Given the description of an element on the screen output the (x, y) to click on. 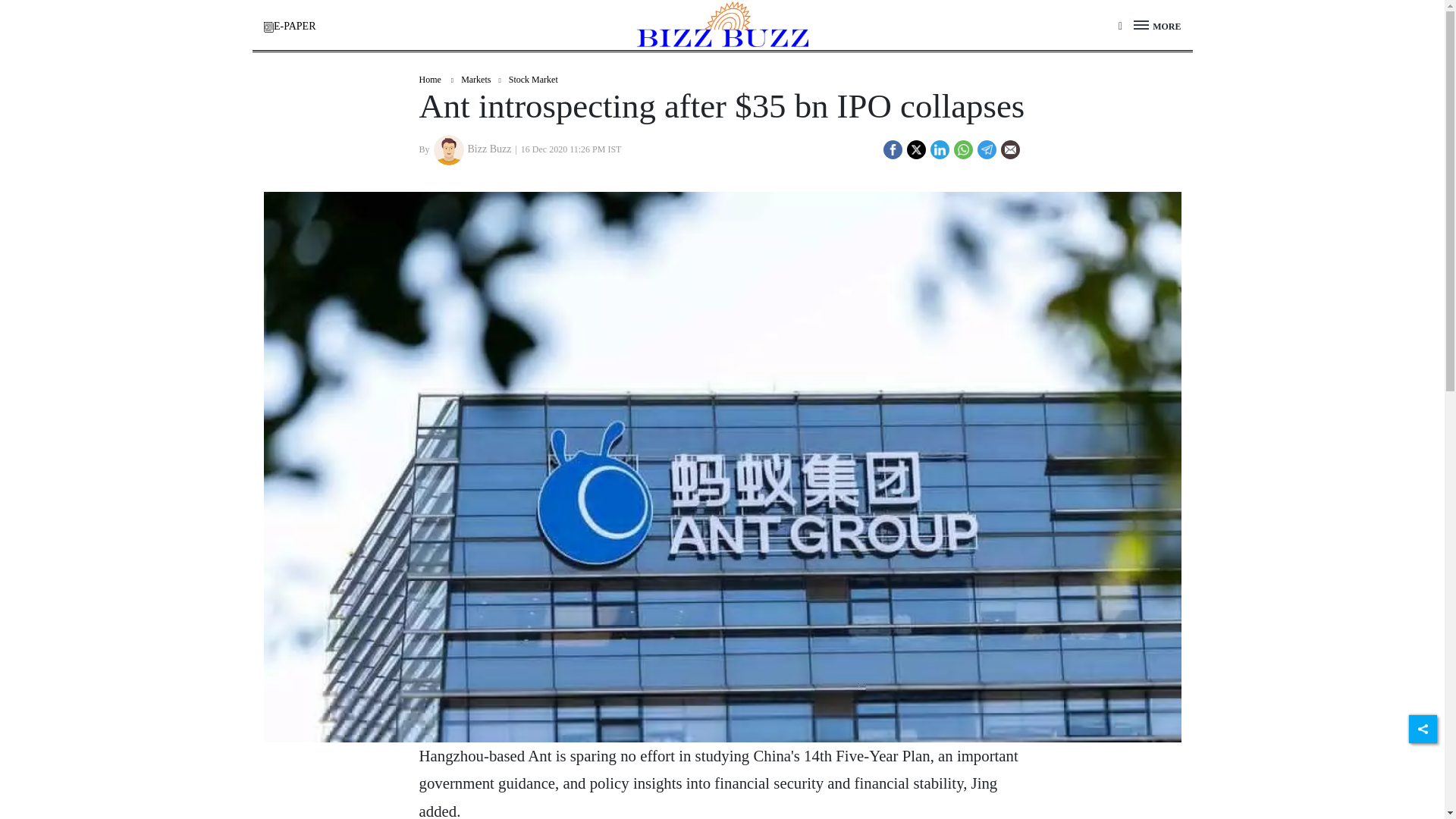
linkedin (939, 149)
LinkedIn (939, 148)
BizzBuzz (722, 23)
Email (1010, 149)
Facebook (891, 148)
whatsapp (962, 149)
Bizz Buzz (448, 150)
telegram (986, 149)
e-paper (269, 27)
twitter (915, 149)
Share by Email (1010, 151)
facebook (892, 149)
Twitter (916, 148)
